Given the description of an element on the screen output the (x, y) to click on. 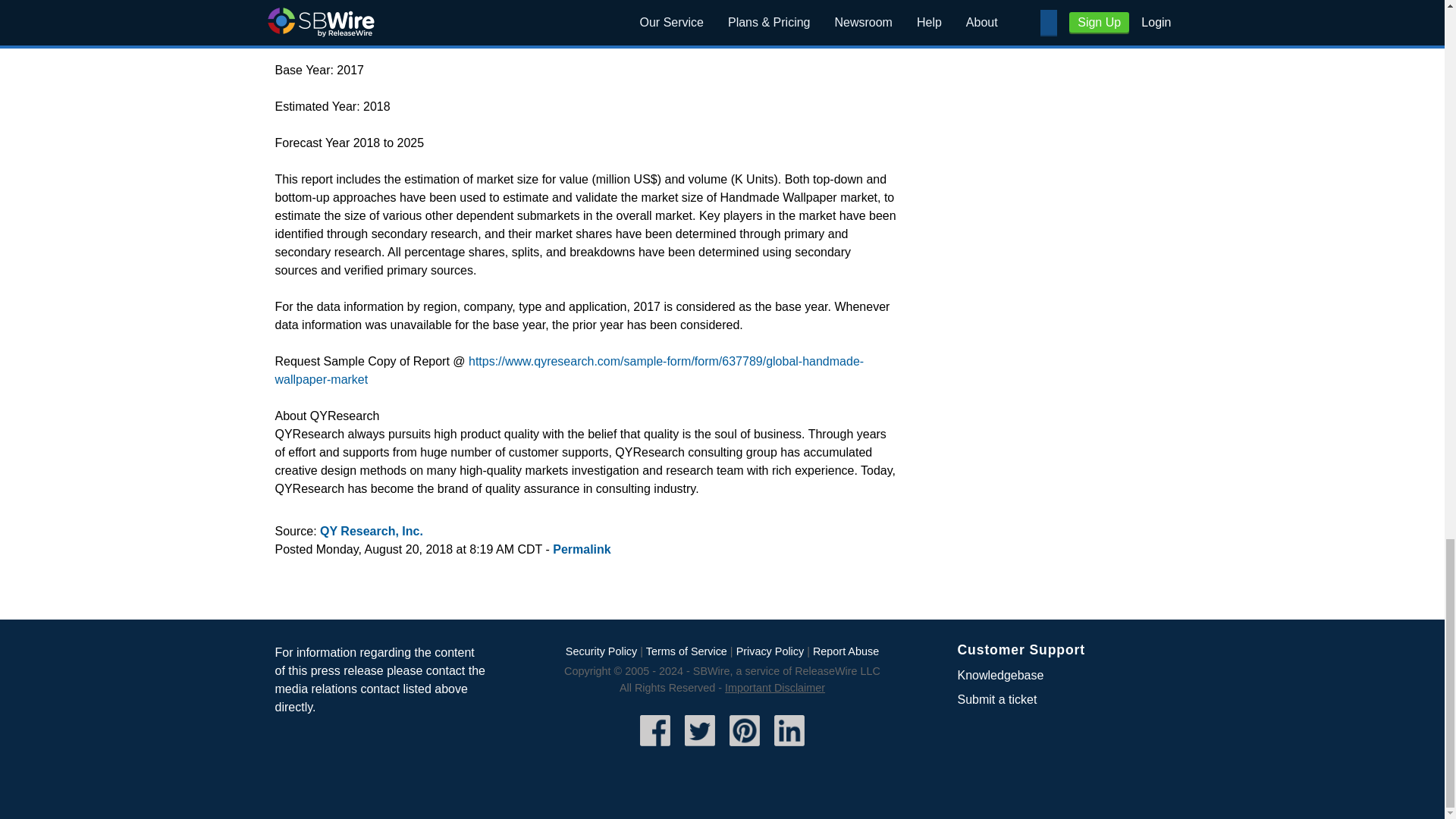
Important Disclaimer (775, 687)
Follow SBWire on Twitter (699, 747)
Terms of Service (686, 651)
Find SBWire on Facebook (655, 747)
Privacy Policy (770, 651)
Permalink (581, 549)
QY Research, Inc. (371, 530)
Visit SBWire on Pinterest (744, 747)
Knowledgebase (999, 675)
Security Policy (601, 651)
Follow SBWire on LinkedIn (788, 747)
Report Abuse (845, 651)
